Given the description of an element on the screen output the (x, y) to click on. 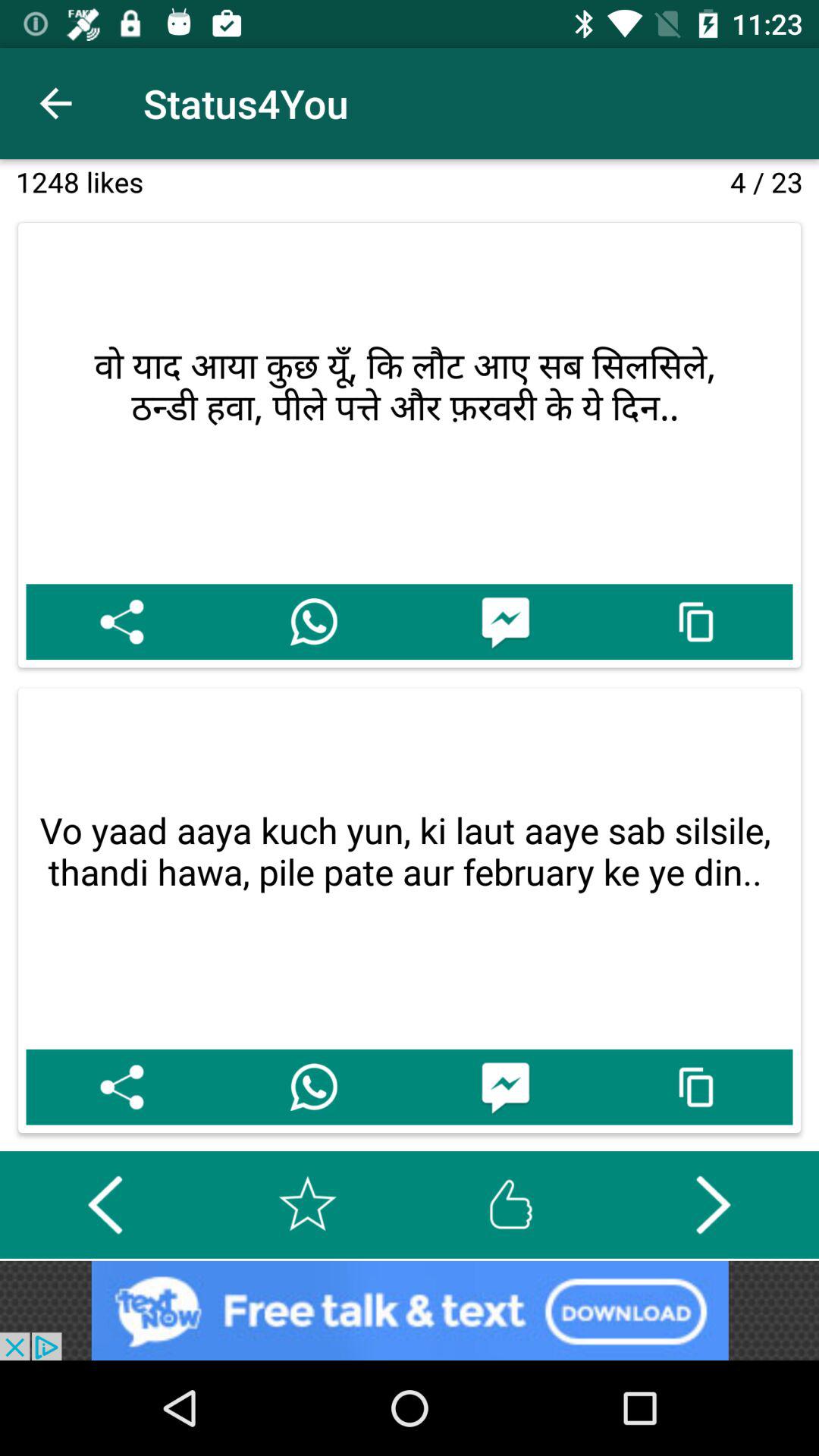
access page (696, 621)
